Given the description of an element on the screen output the (x, y) to click on. 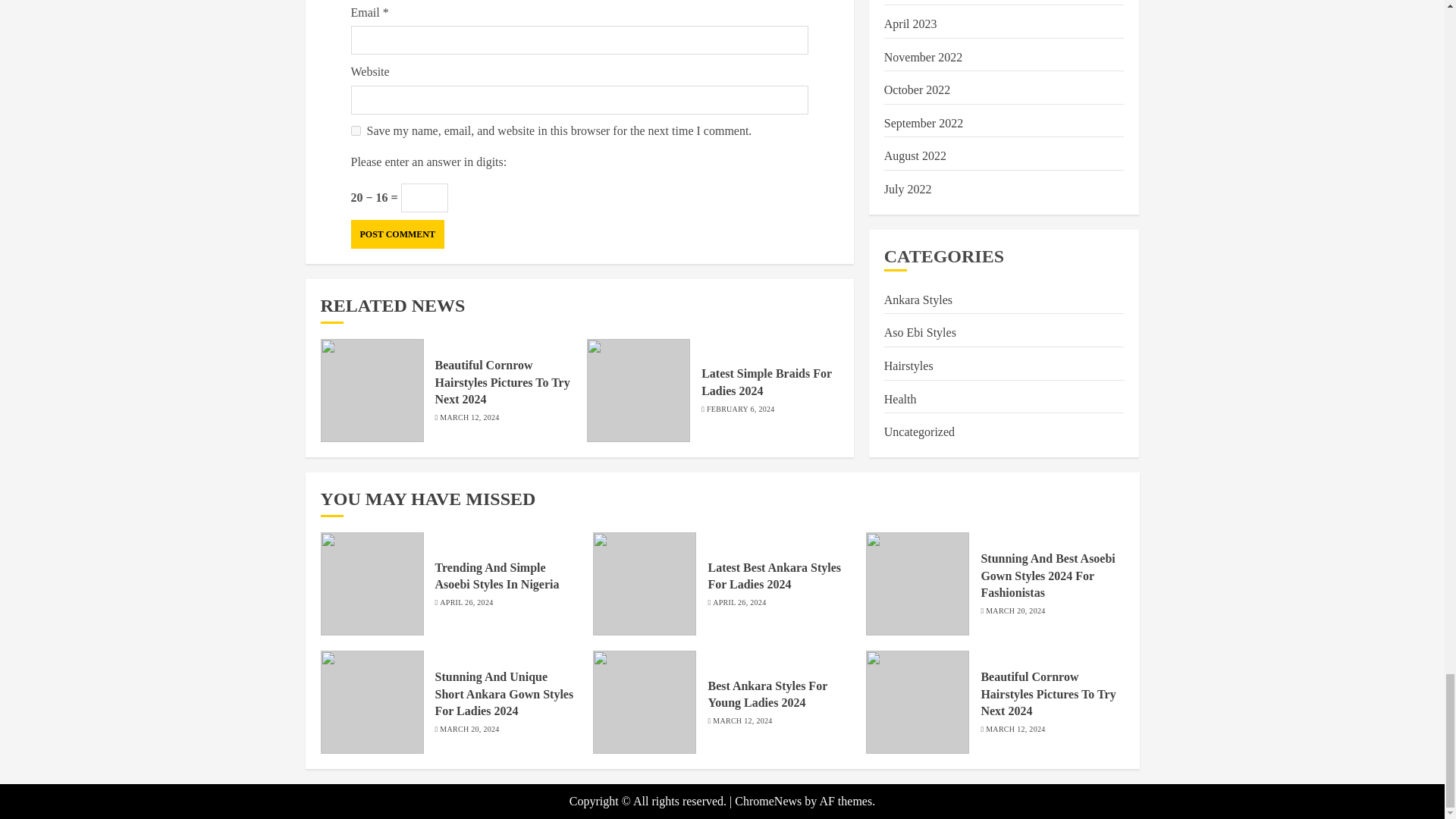
Beautiful Cornrow Hairstyles Pictures To Try Next 2024 (502, 382)
Latest Simple Braids For Ladies 2024 (766, 381)
Post Comment (397, 234)
MARCH 12, 2024 (469, 417)
Post Comment (397, 234)
yes (354, 130)
